Given the description of an element on the screen output the (x, y) to click on. 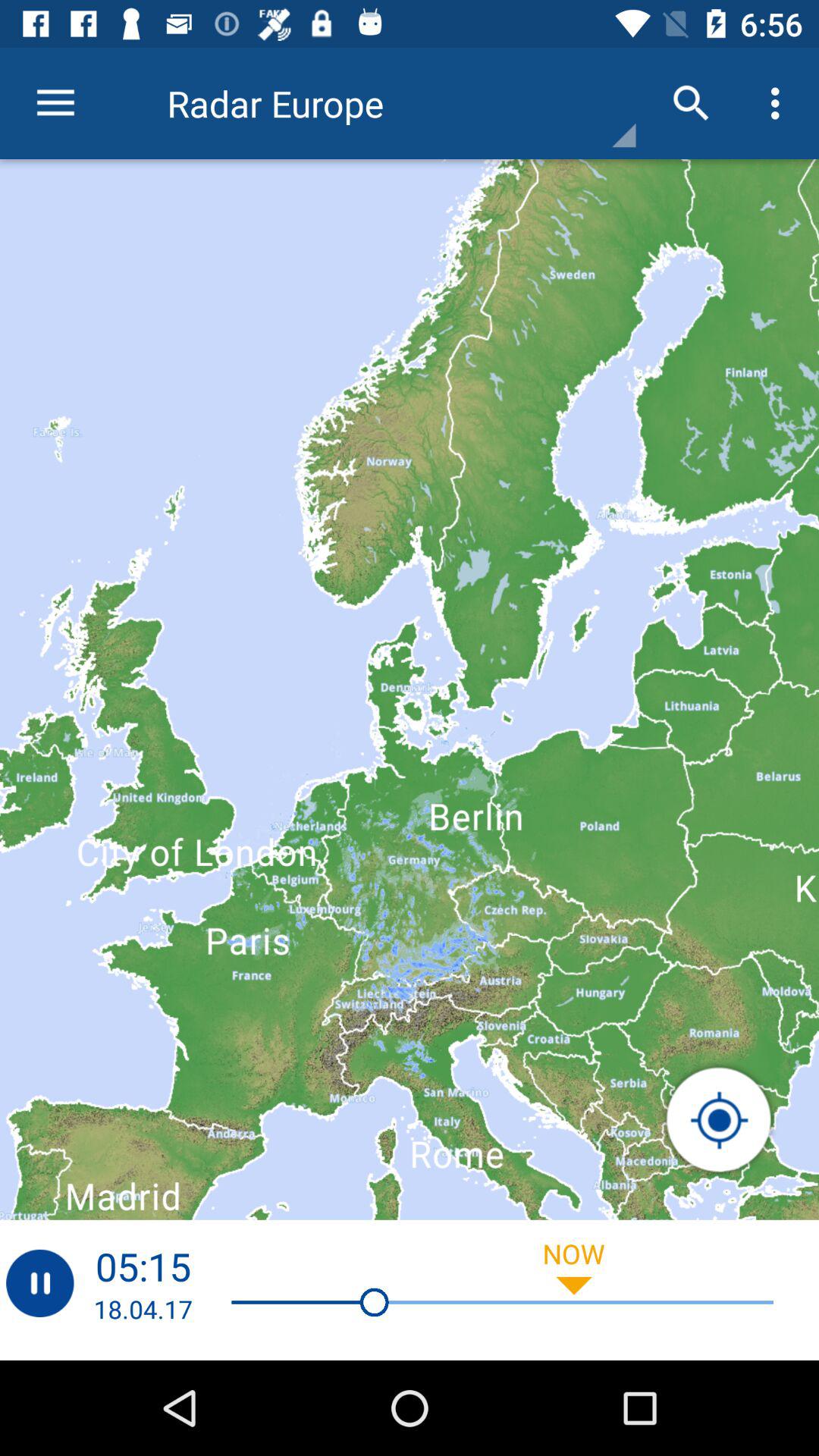
go to pause button (39, 1283)
